Given the description of an element on the screen output the (x, y) to click on. 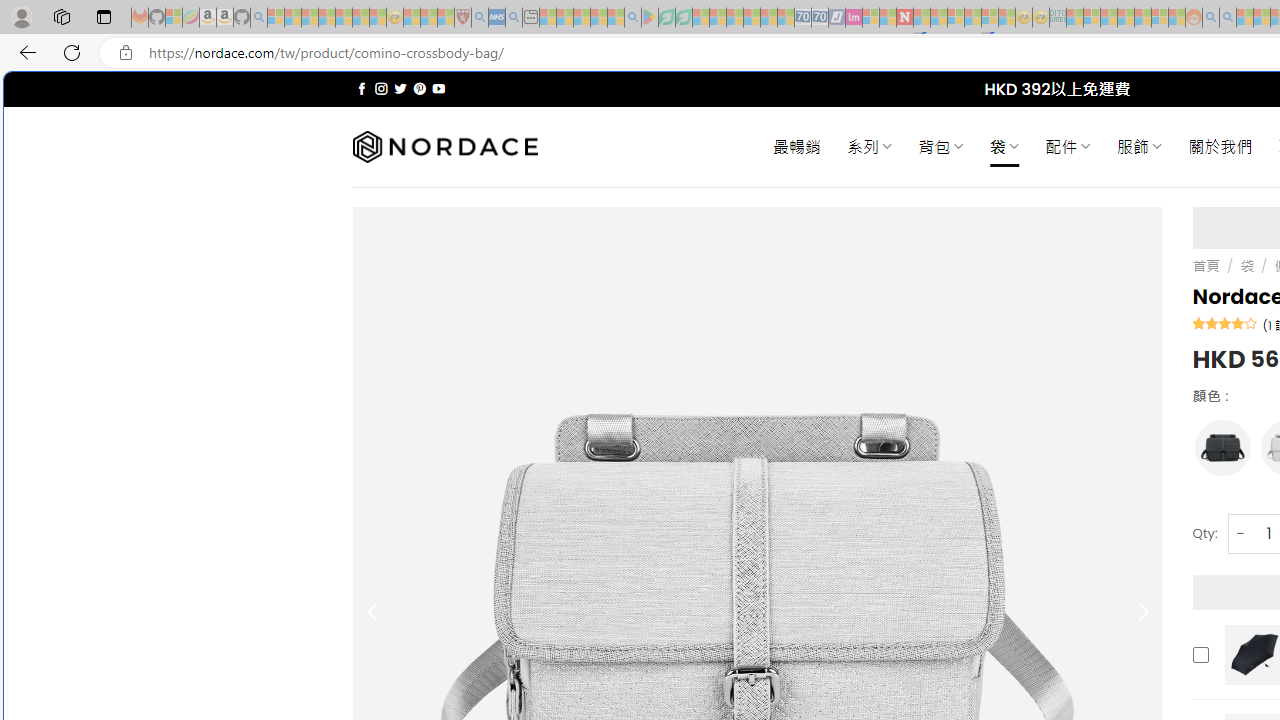
Follow on Instagram (381, 88)
